Given the description of an element on the screen output the (x, y) to click on. 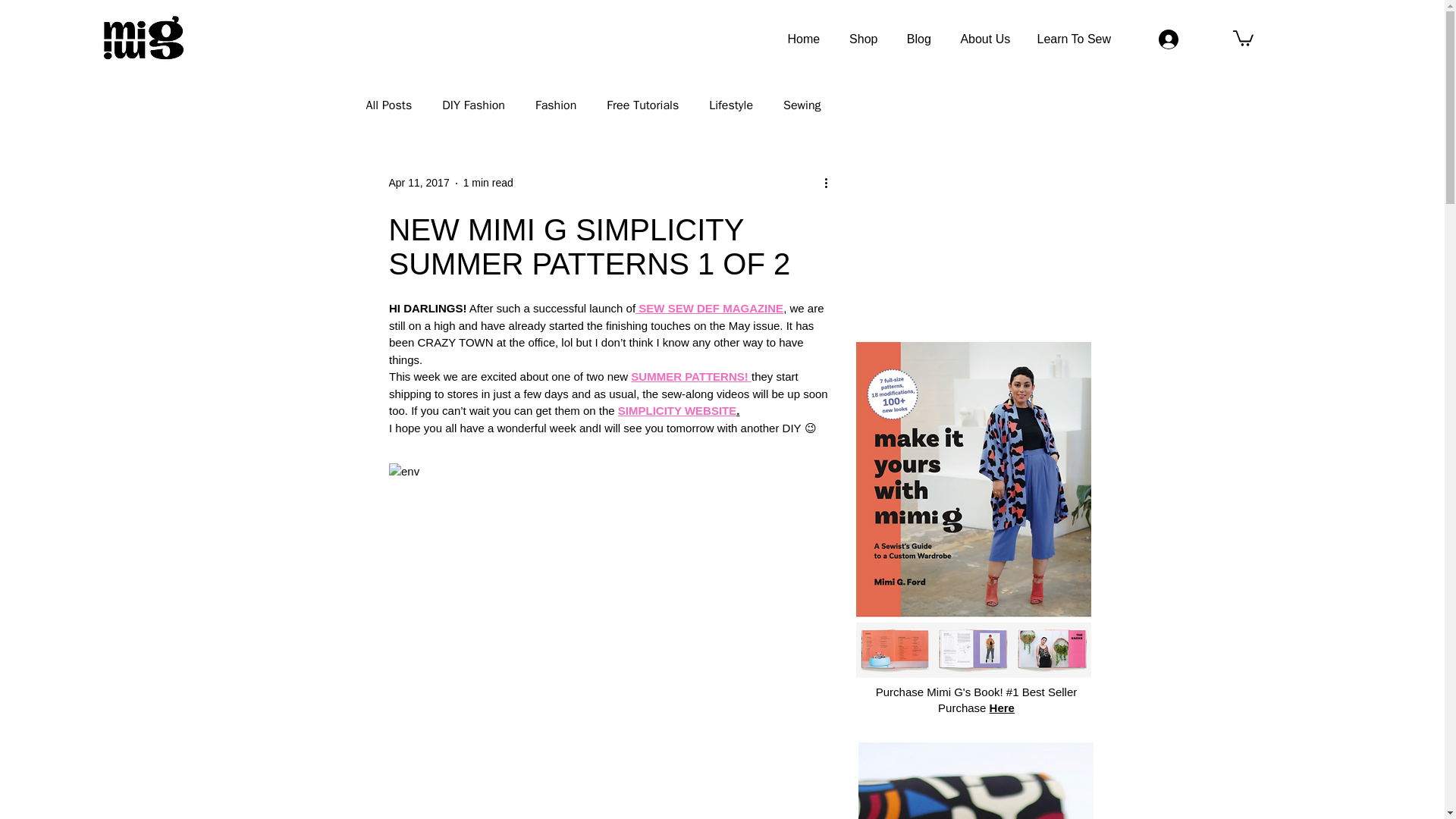
All Posts (388, 105)
Sewing (802, 105)
SUMMER PATTERNS! (689, 376)
Learn To Sew (1073, 39)
1 min read (488, 182)
Shop (862, 39)
About Us (984, 39)
Fashion (555, 105)
2.png (976, 780)
DIY Fashion (473, 105)
